Given the description of an element on the screen output the (x, y) to click on. 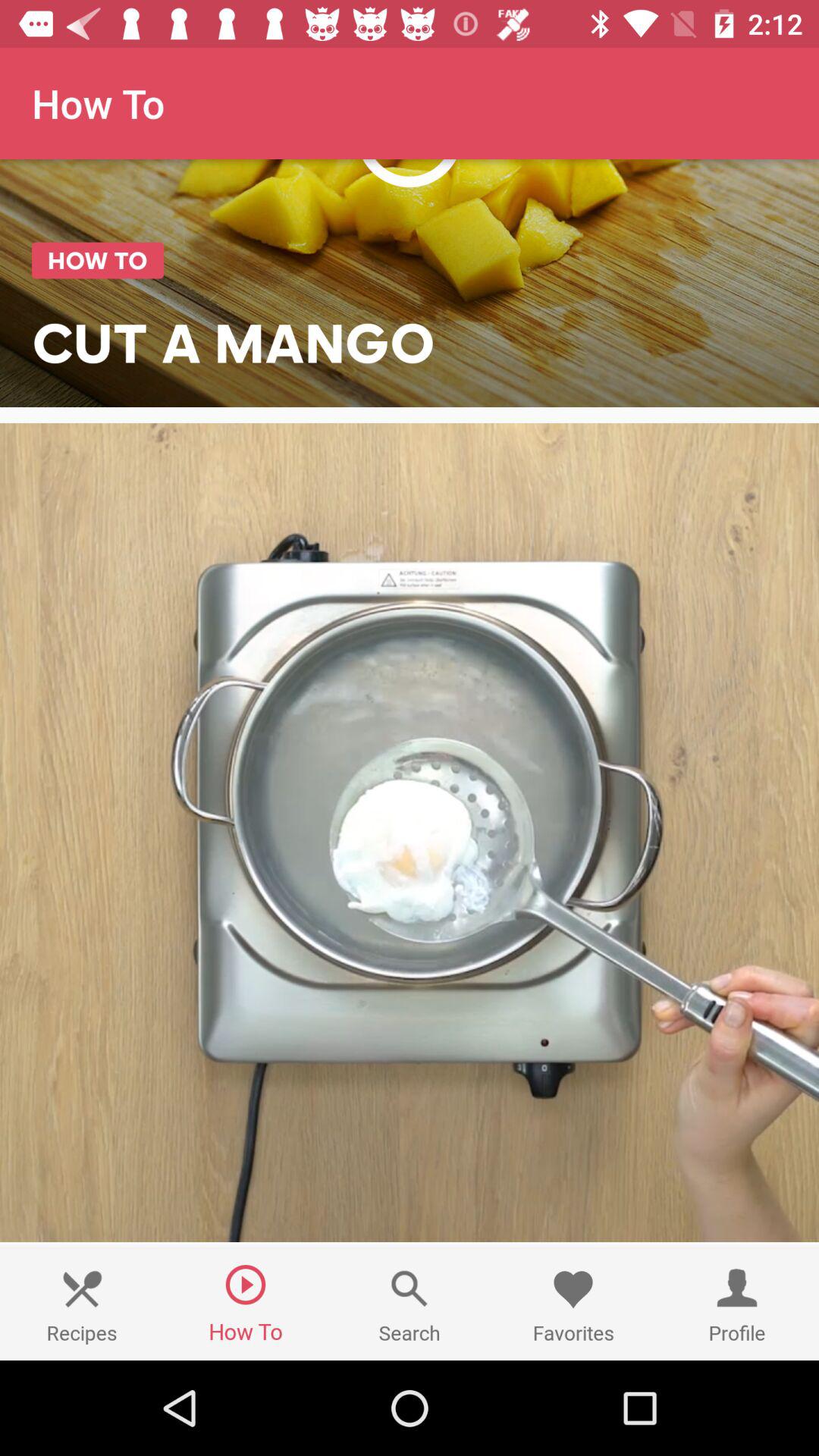
tap item above cut a mango item (409, 178)
